Given the description of an element on the screen output the (x, y) to click on. 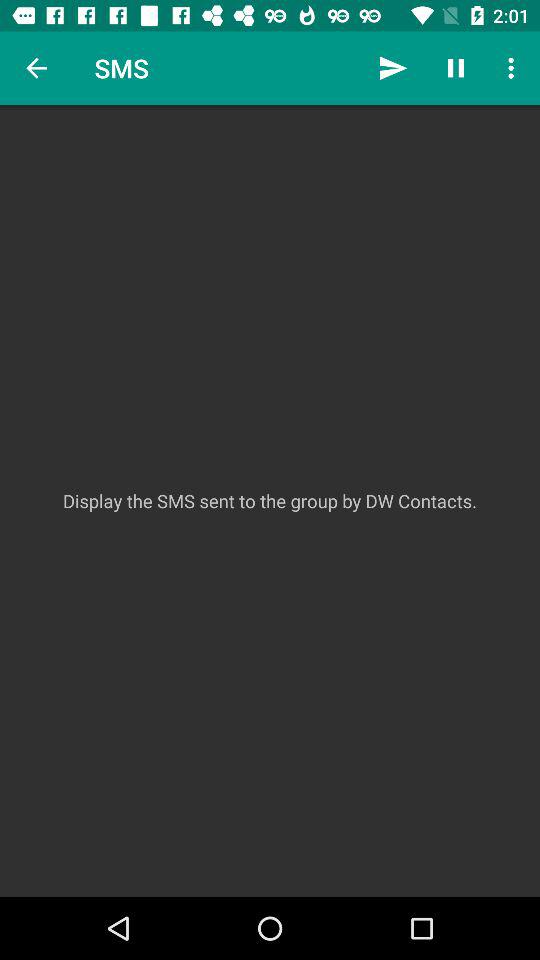
select icon above the display the sms (513, 67)
